Given the description of an element on the screen output the (x, y) to click on. 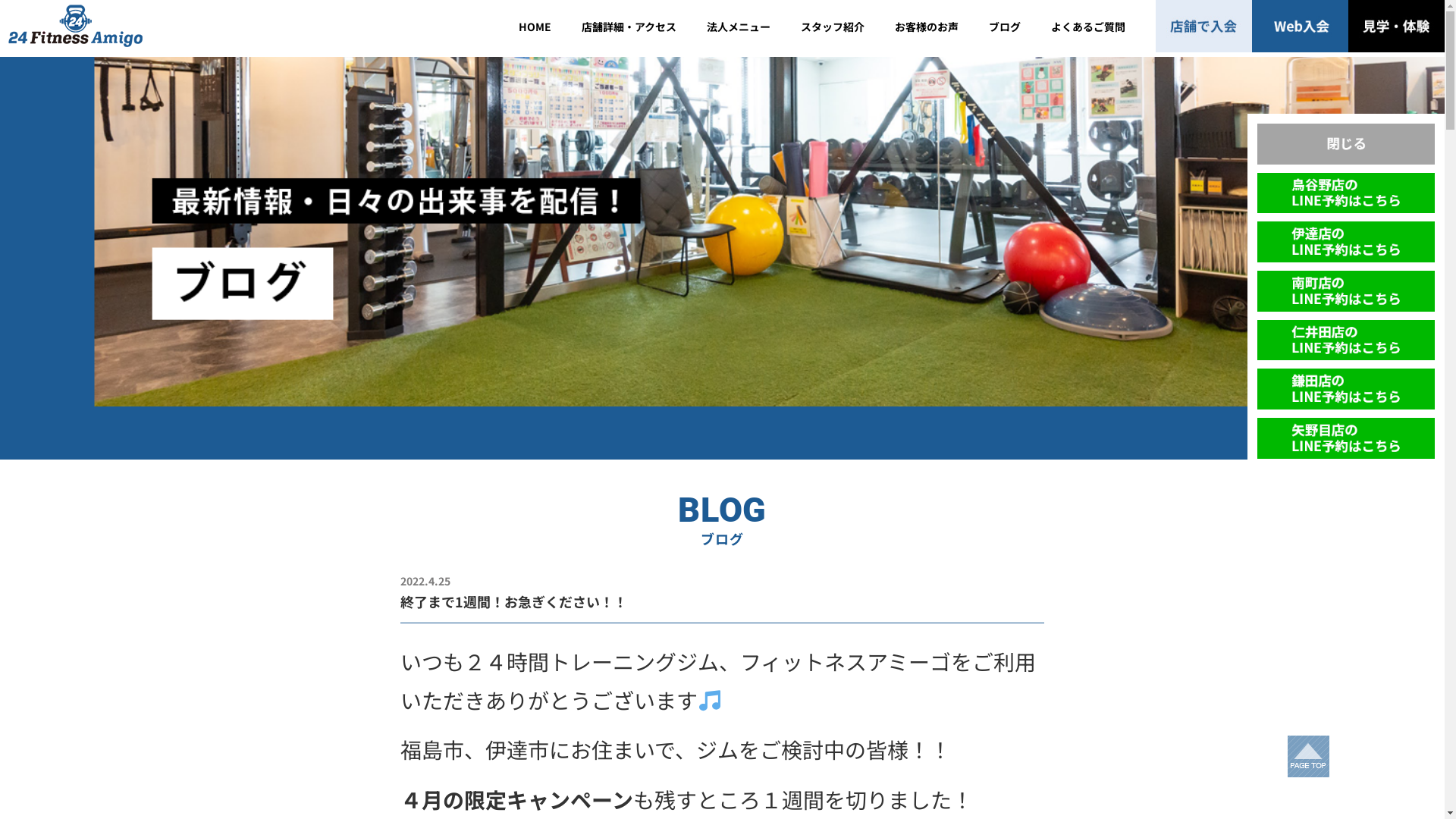
HOME Element type: text (534, 26)
